Given the description of an element on the screen output the (x, y) to click on. 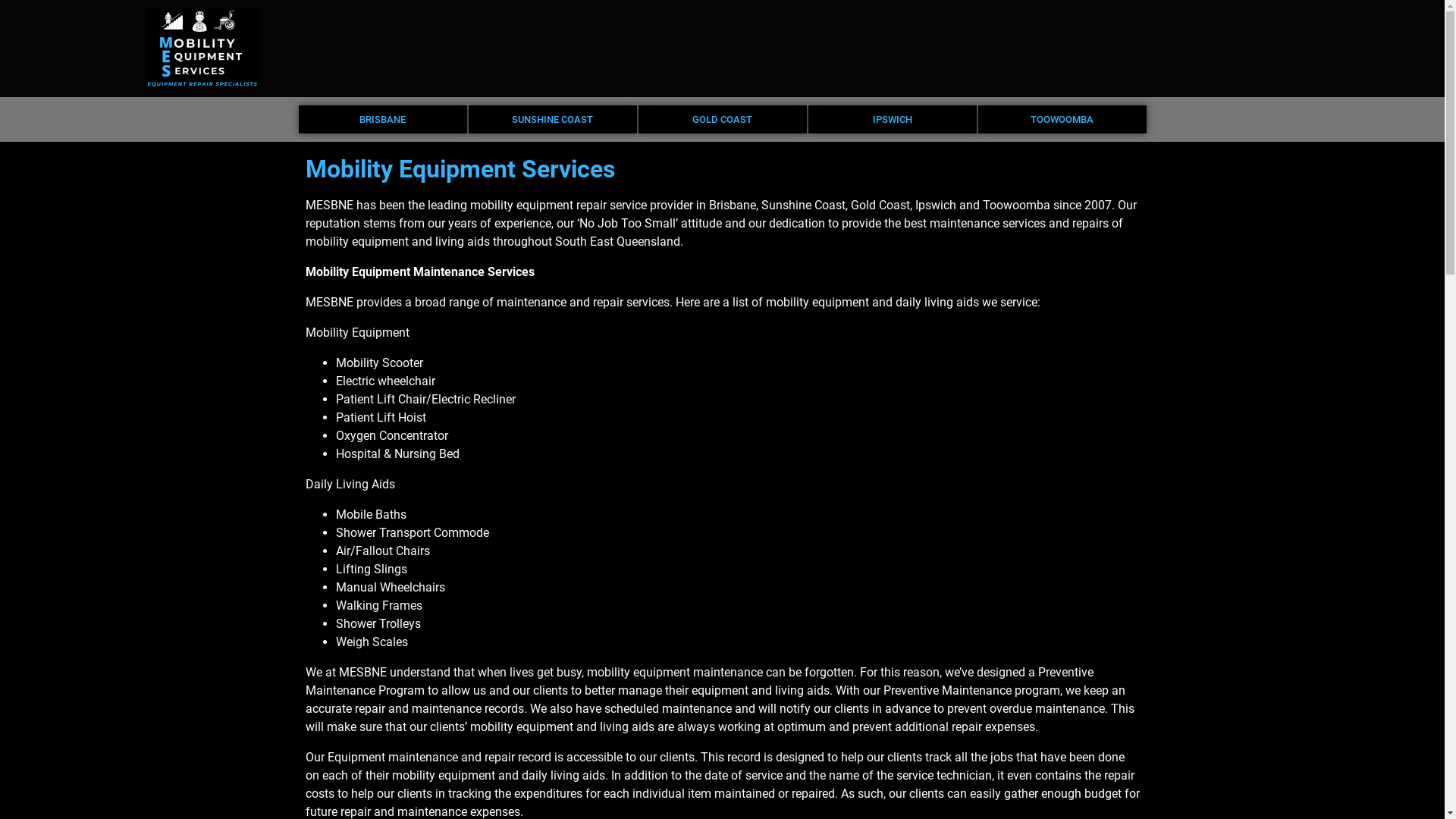
SUNSHINE COAST Element type: text (552, 119)
BRISBANE Element type: text (382, 119)
GOLD COAST Element type: text (722, 119)
IPSWICH Element type: text (892, 119)
TOOWOOMBA Element type: text (1062, 119)
